Given the description of an element on the screen output the (x, y) to click on. 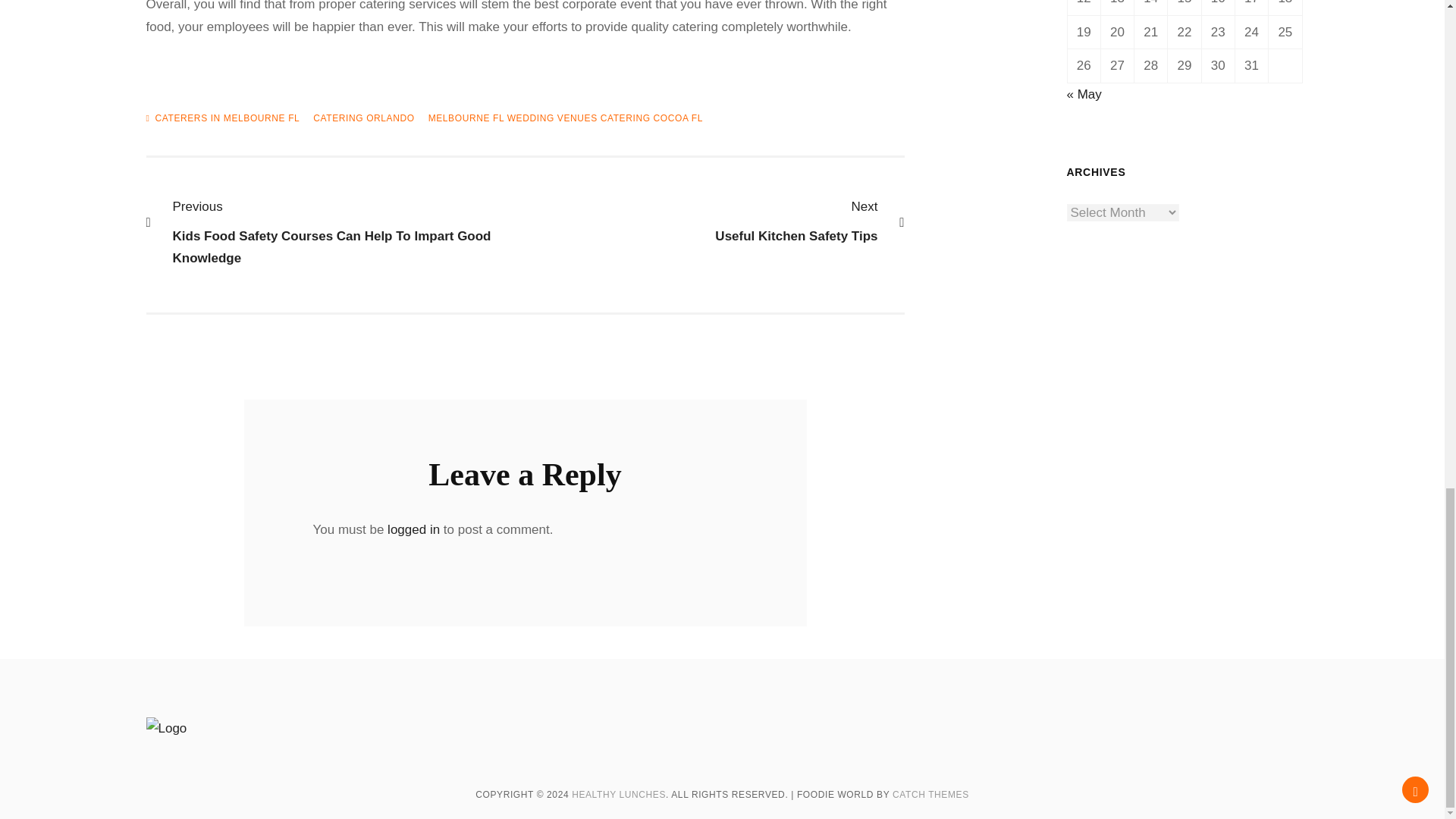
HEALTHY LUNCHES (618, 794)
CATERERS IN MELBOURNE FL (706, 221)
logged in (226, 118)
CATCH THEMES (413, 529)
CATERING ORLANDO (930, 794)
MELBOURNE FL WEDDING VENUES CATERING COCOA FL (363, 118)
